Given the description of an element on the screen output the (x, y) to click on. 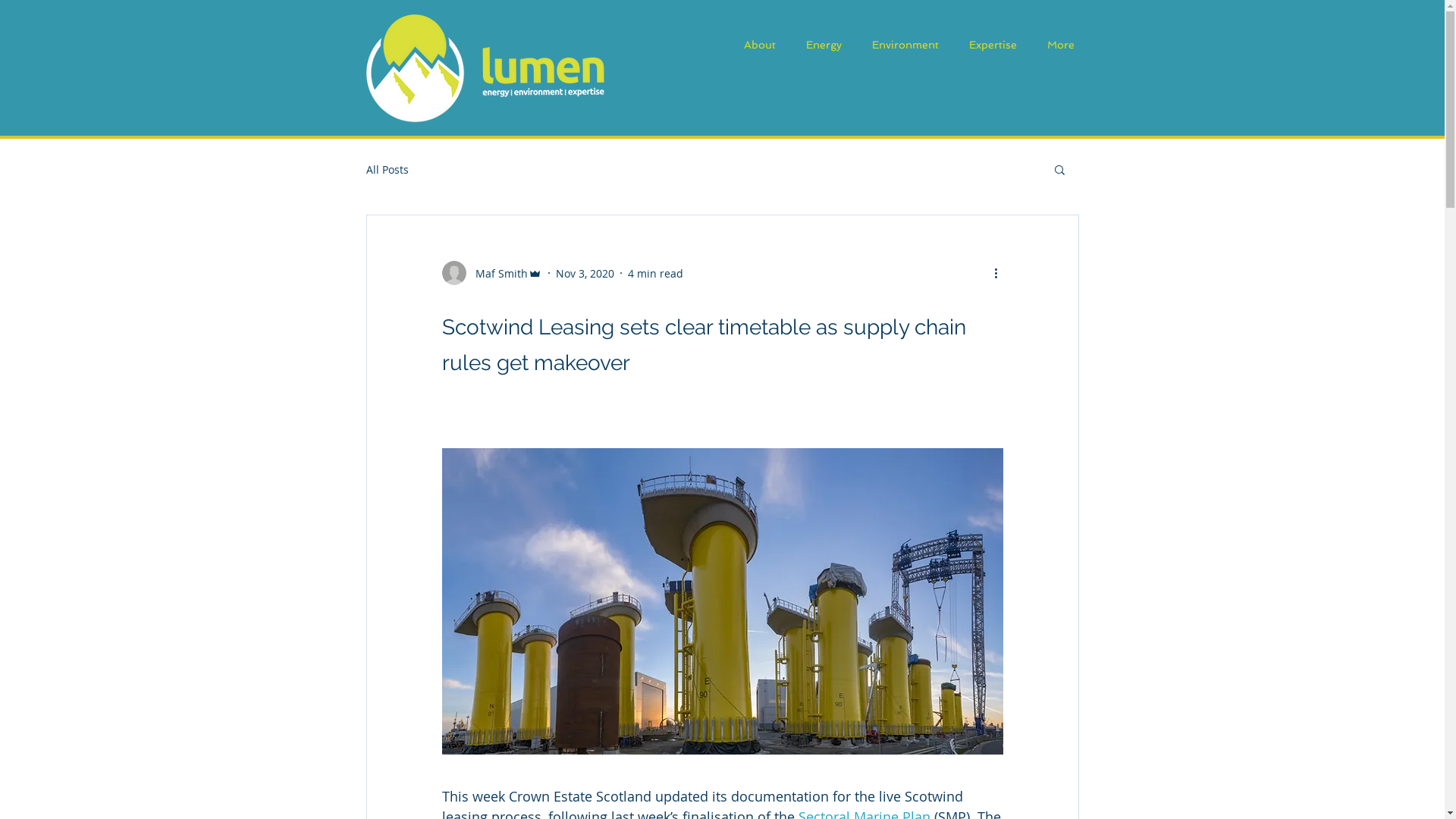
Energy Element type: text (823, 44)
All Posts Element type: text (386, 169)
About Element type: text (759, 44)
Expertise Element type: text (992, 44)
Environment Element type: text (904, 44)
Maf Smith Element type: text (491, 272)
